Given the description of an element on the screen output the (x, y) to click on. 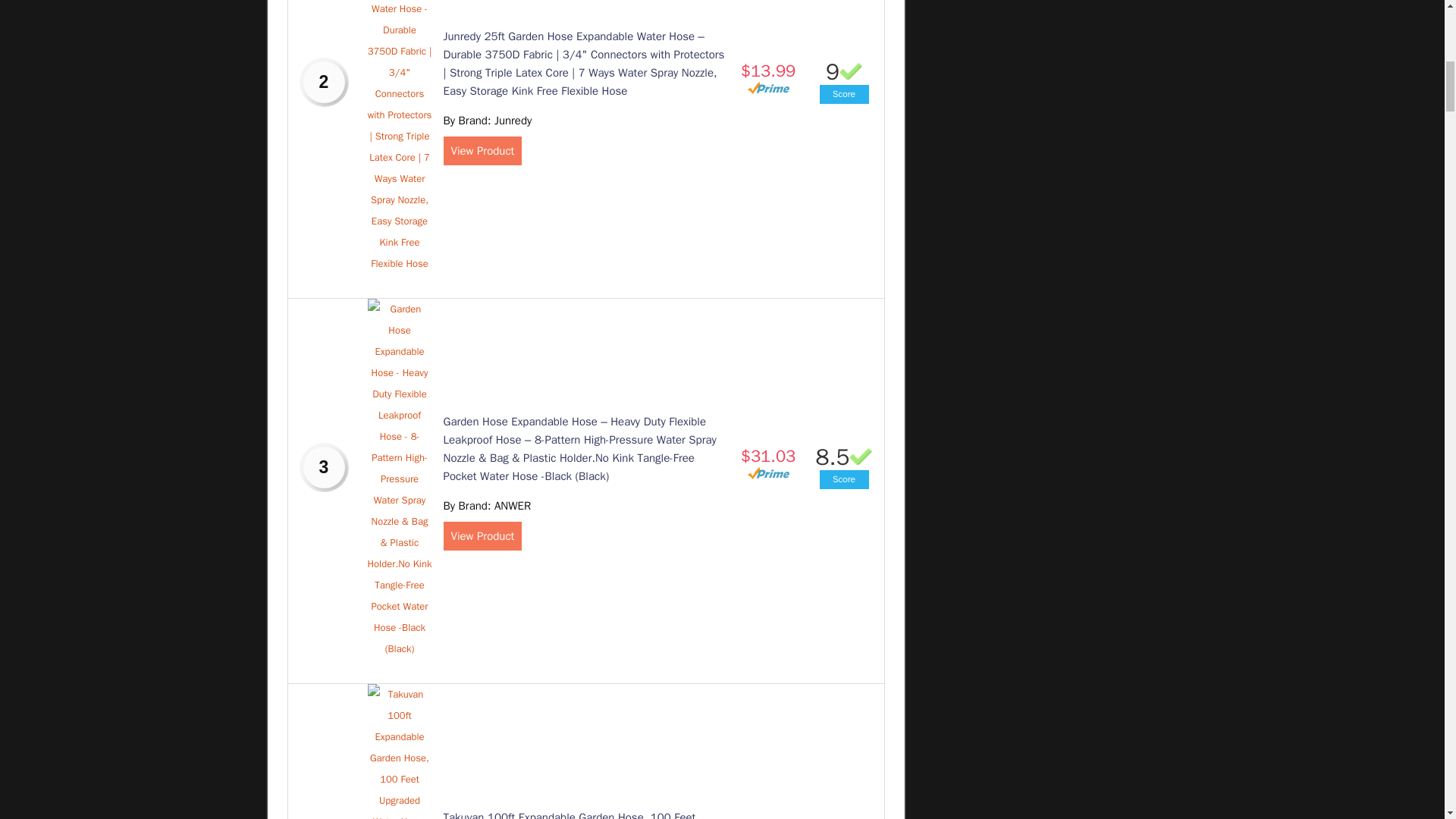
By Brand: ANWER (486, 505)
By Brand: Junredy (486, 120)
View Product (481, 535)
View Product (481, 150)
